Given the description of an element on the screen output the (x, y) to click on. 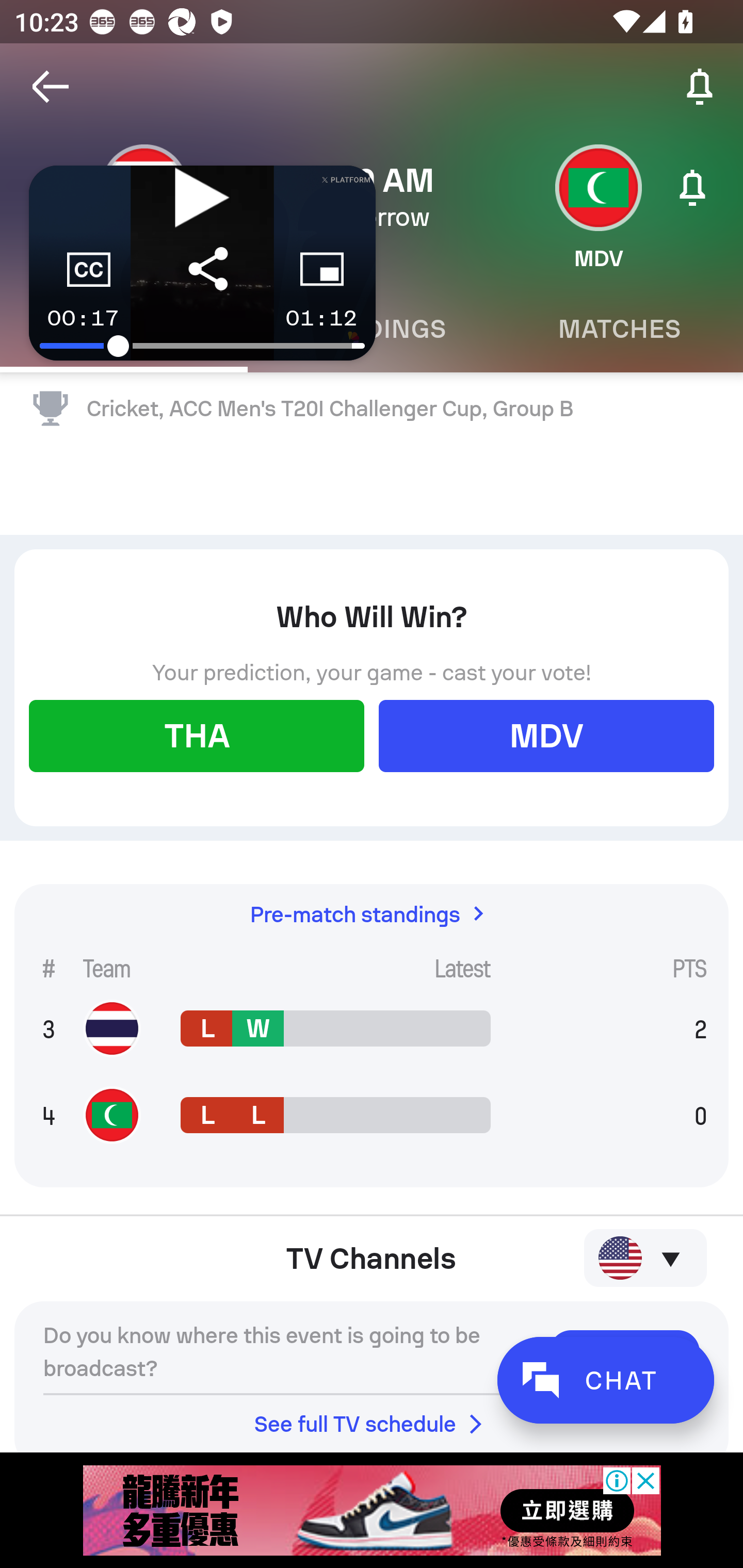
Navigate up (50, 86)
Matches MATCHES (619, 329)
Cricket, ACC Men's T20I Challenger Cup, Group B (371, 409)
THA (196, 735)
MDV (546, 735)
CHAT (605, 1380)
See full TV schedule (371, 1423)
